Given the description of an element on the screen output the (x, y) to click on. 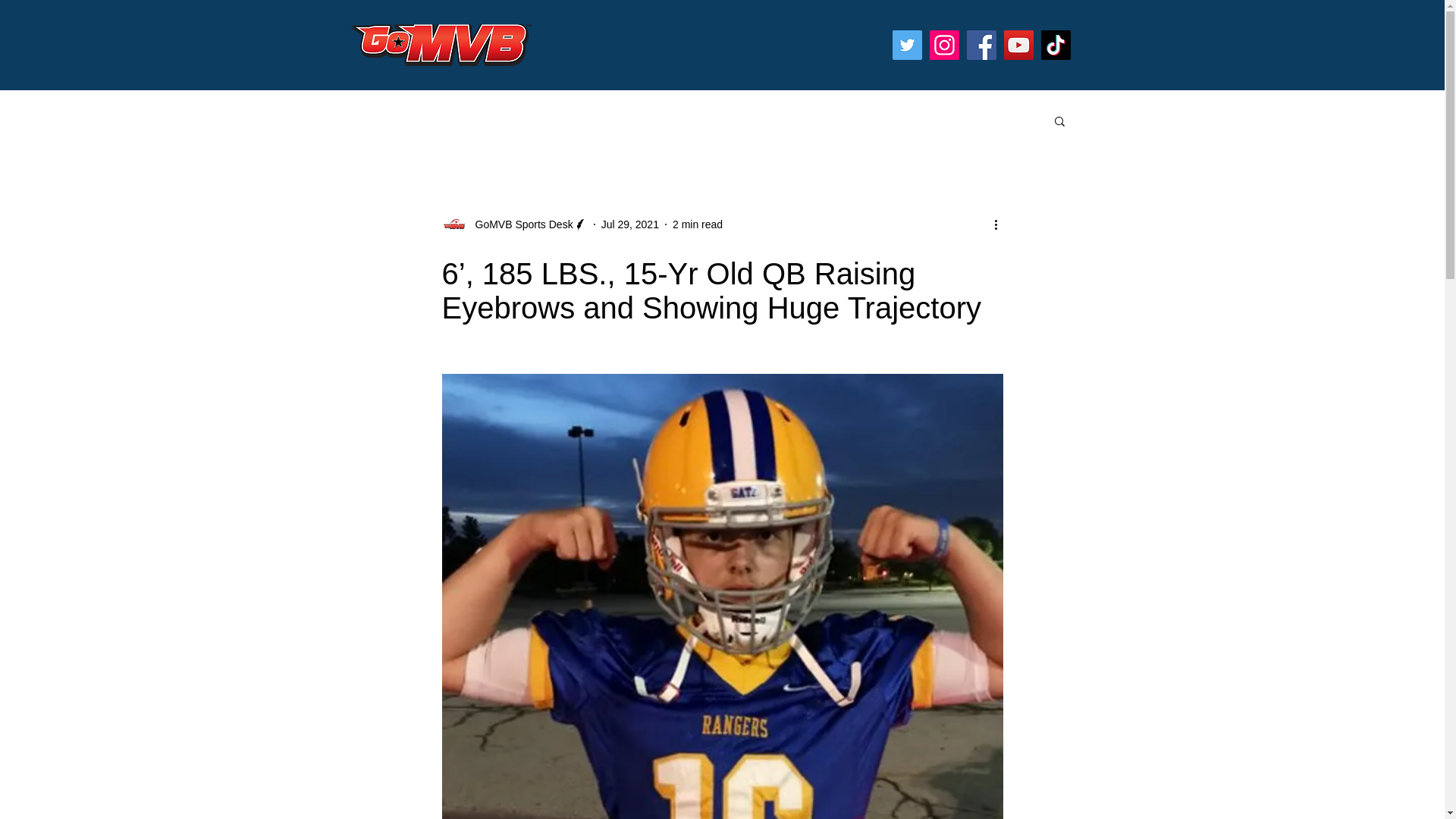
GoMVB Sports Desk (513, 224)
GoMVB Sports Desk (518, 224)
Jul 29, 2021 (630, 224)
2 min read (697, 224)
